Given the description of an element on the screen output the (x, y) to click on. 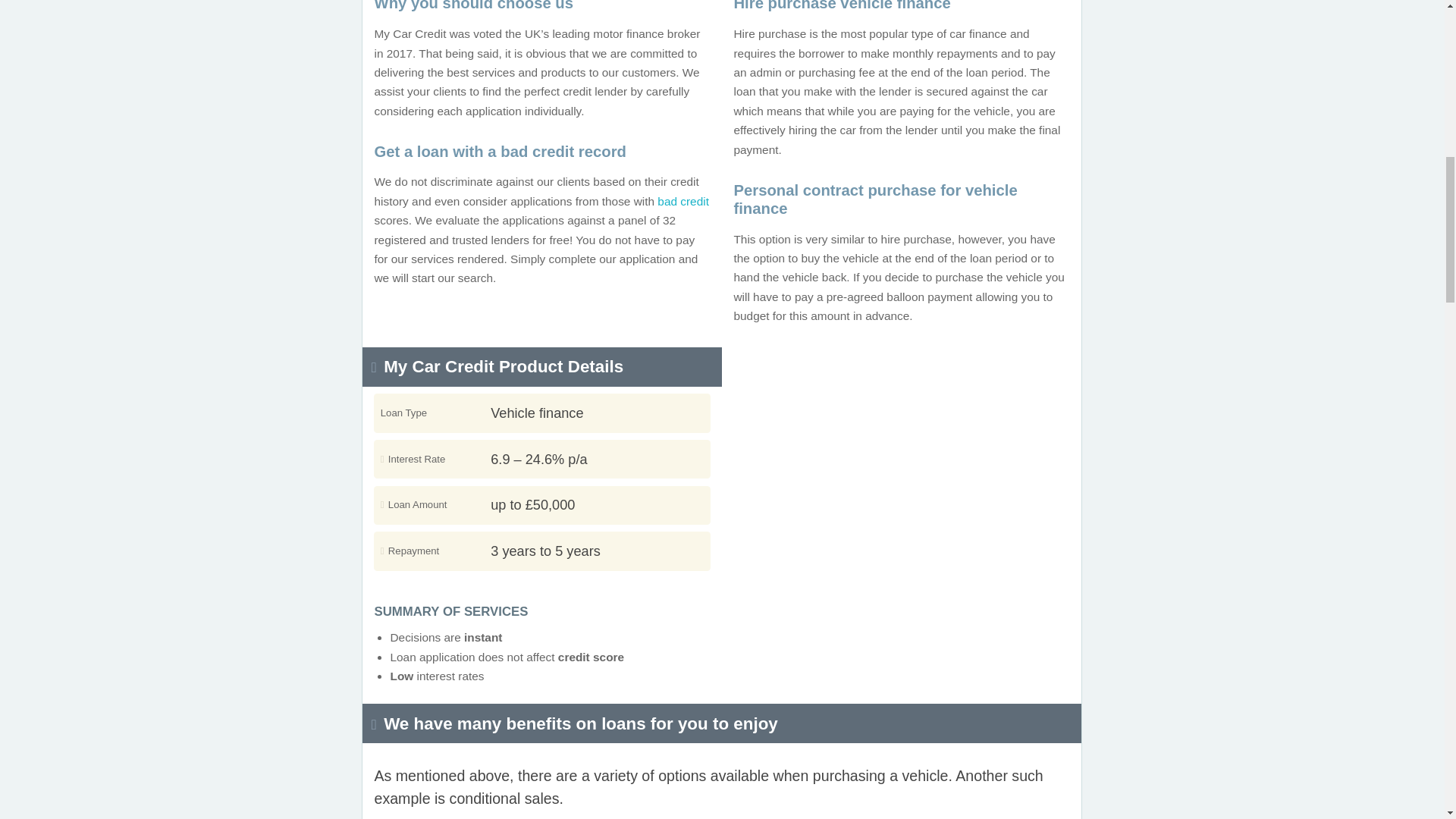
bad credit (683, 201)
